Given the description of an element on the screen output the (x, y) to click on. 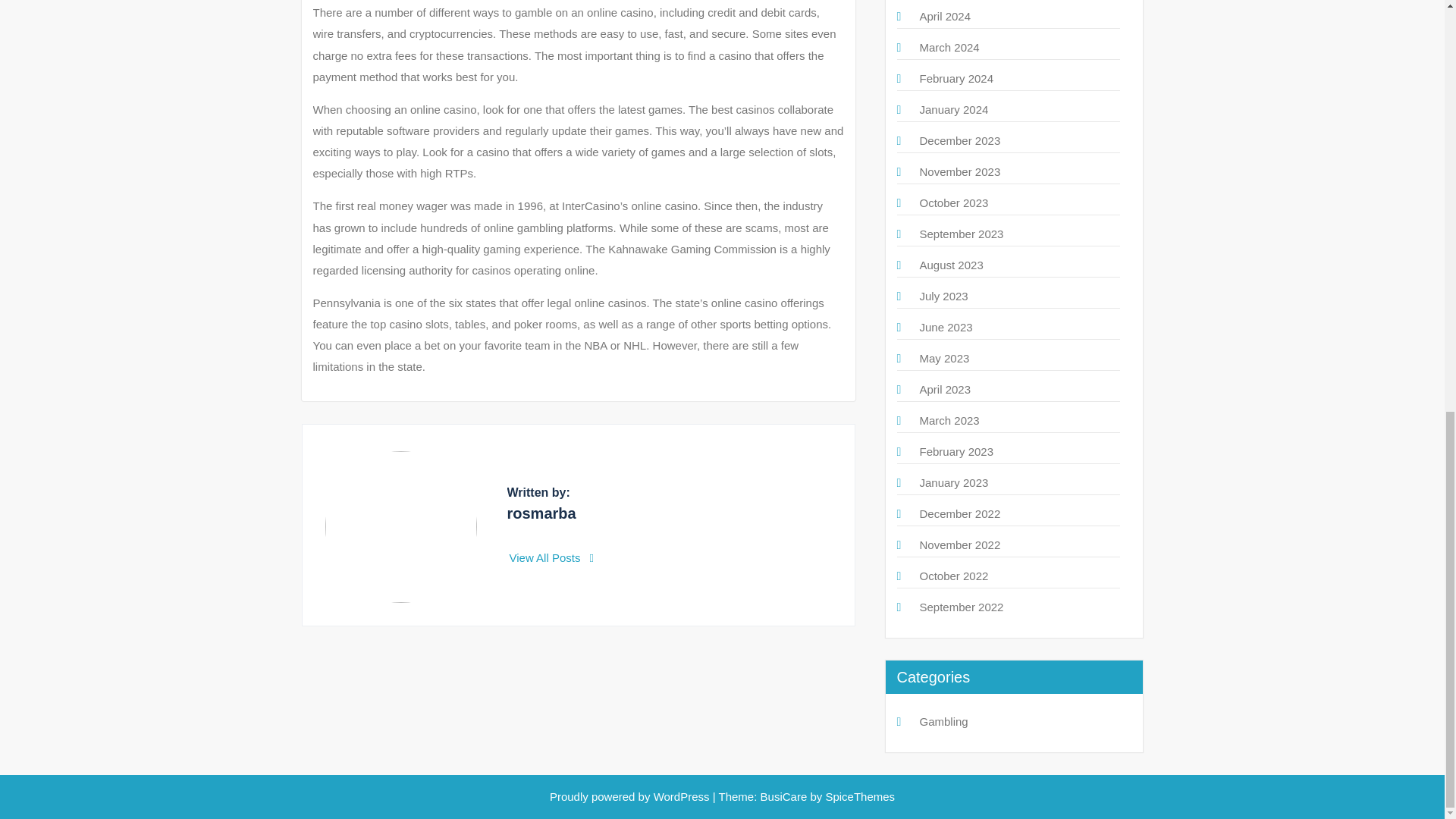
December 2023 (959, 140)
October 2022 (953, 575)
March 2024 (948, 47)
June 2023 (945, 327)
May 2023 (943, 358)
January 2023 (953, 481)
August 2023 (950, 264)
View All Posts (551, 557)
WordPress (681, 796)
BusiCare (785, 796)
October 2023 (953, 202)
November 2022 (959, 544)
March 2023 (948, 420)
December 2022 (959, 513)
April 2024 (944, 15)
